Given the description of an element on the screen output the (x, y) to click on. 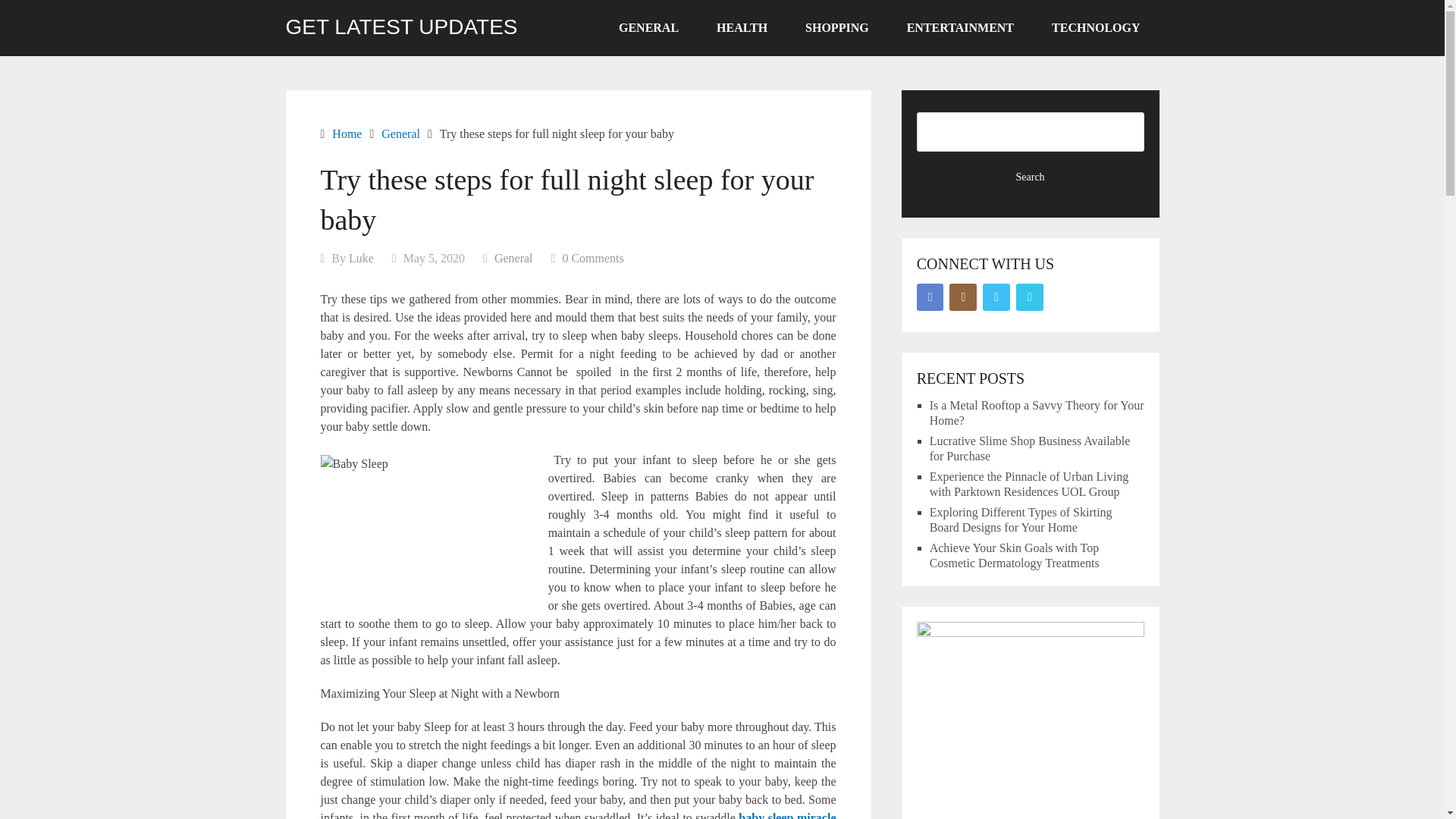
General (513, 257)
Search (1030, 176)
GET LATEST UPDATES (400, 26)
Instagram (962, 297)
0 Comments (592, 257)
GENERAL (648, 28)
Home (346, 133)
TECHNOLOGY (1095, 28)
SHOPPING (837, 28)
Is a Metal Rooftop a Savvy Theory for Your Home? (1037, 412)
Facebook (930, 297)
HEALTH (741, 28)
ENTERTAINMENT (960, 28)
General (400, 133)
Lucrative Slime Shop Business Available for Purchase (1030, 448)
